Given the description of an element on the screen output the (x, y) to click on. 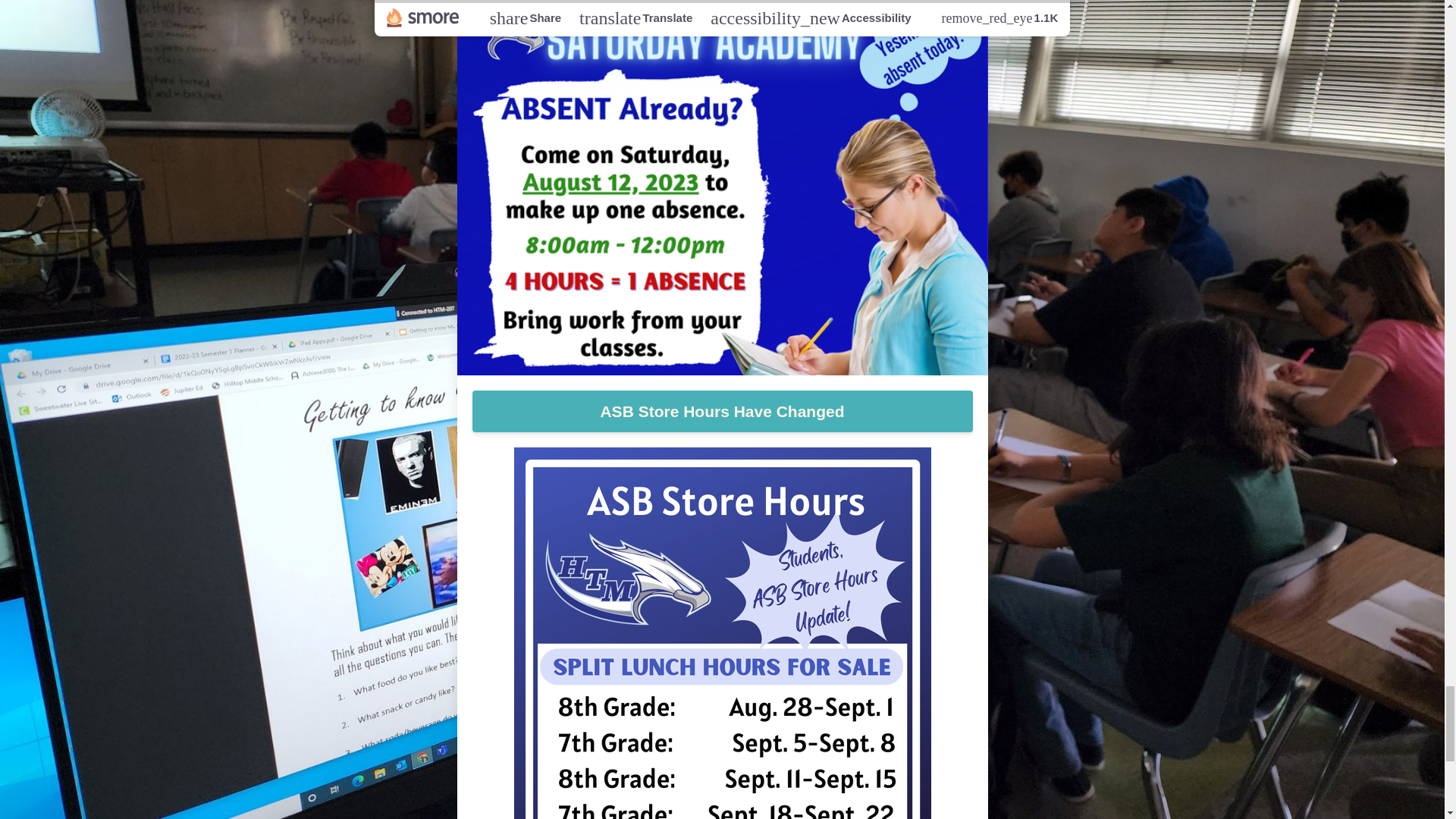
ASB Store Hours Have Changed (721, 411)
